Given the description of an element on the screen output the (x, y) to click on. 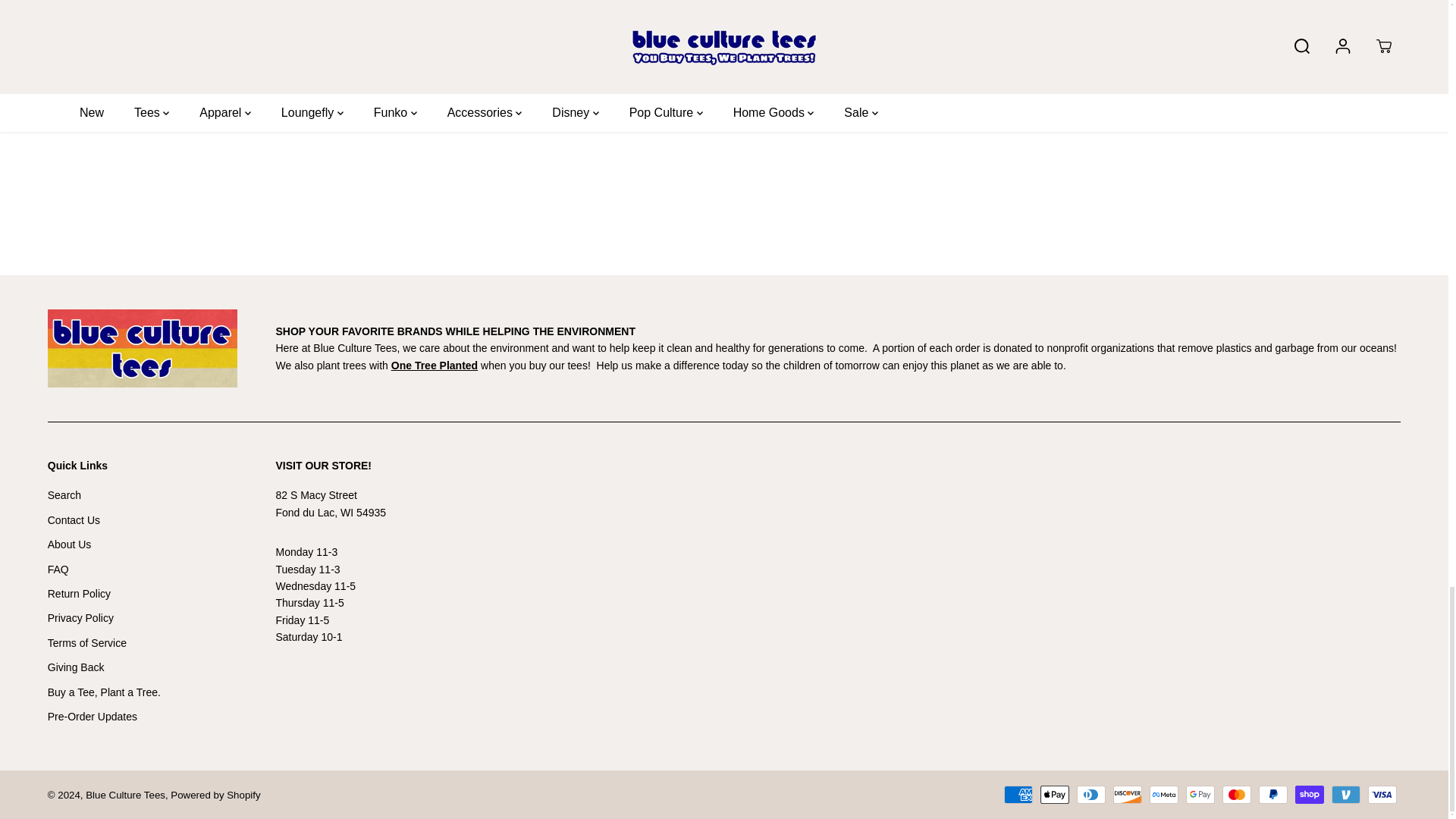
Evanescence Fallen Album Cover T-Shirt (399, 71)
Tom Petty Touring 91 T-Shirt (1266, 71)
Poison I Want Action Four Photos 2 T-Shirt (1049, 71)
Def Leppard 1987 Lightning And Leopards T-Shirt (615, 80)
Def Leppard Sheffield T-Shirt (182, 71)
Evanescence Butterfly E T-Shirt (832, 71)
